Given the description of an element on the screen output the (x, y) to click on. 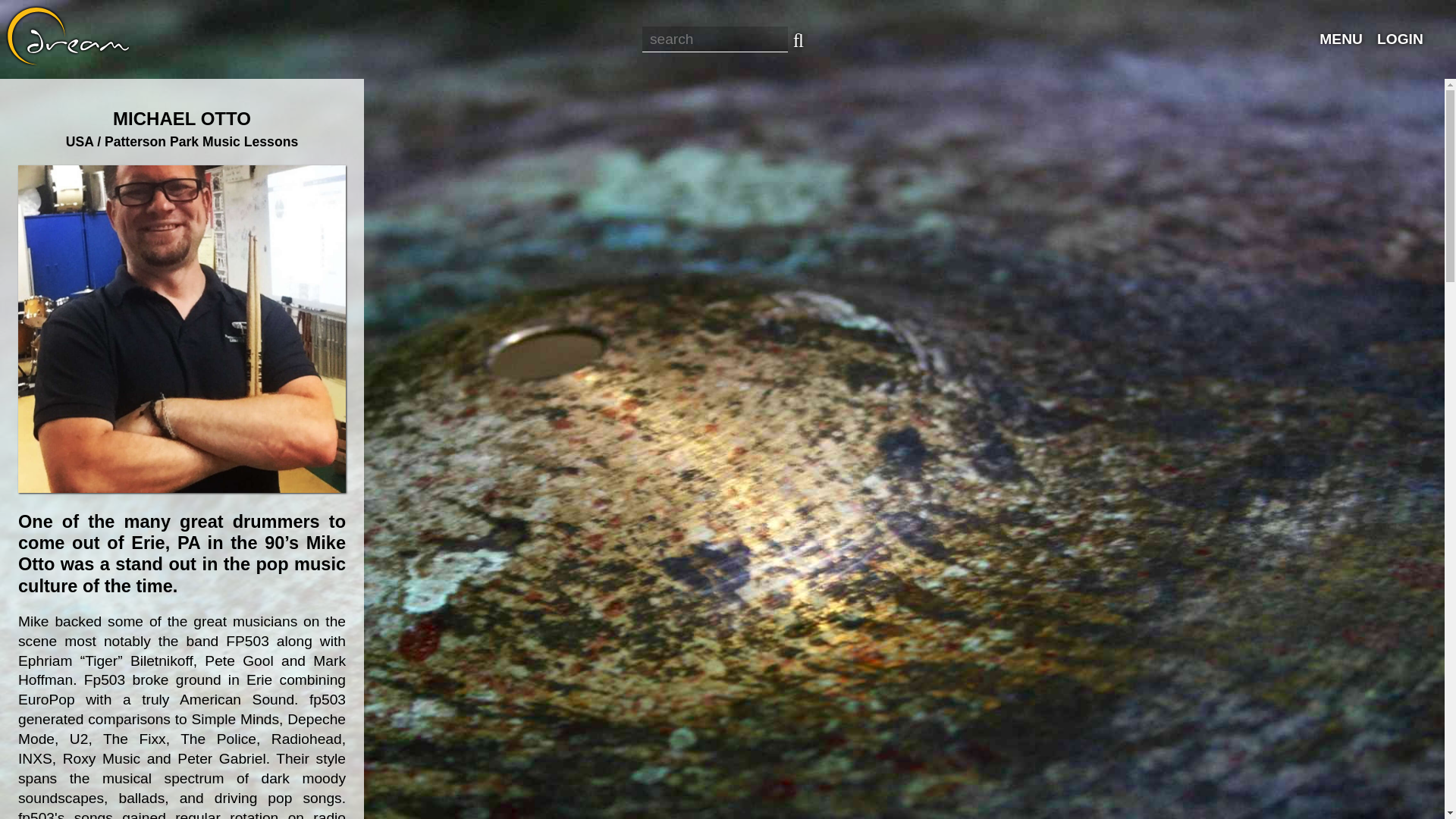
LOGIN (1407, 39)
Michael Otto (181, 329)
MENU (1348, 39)
